Given the description of an element on the screen output the (x, y) to click on. 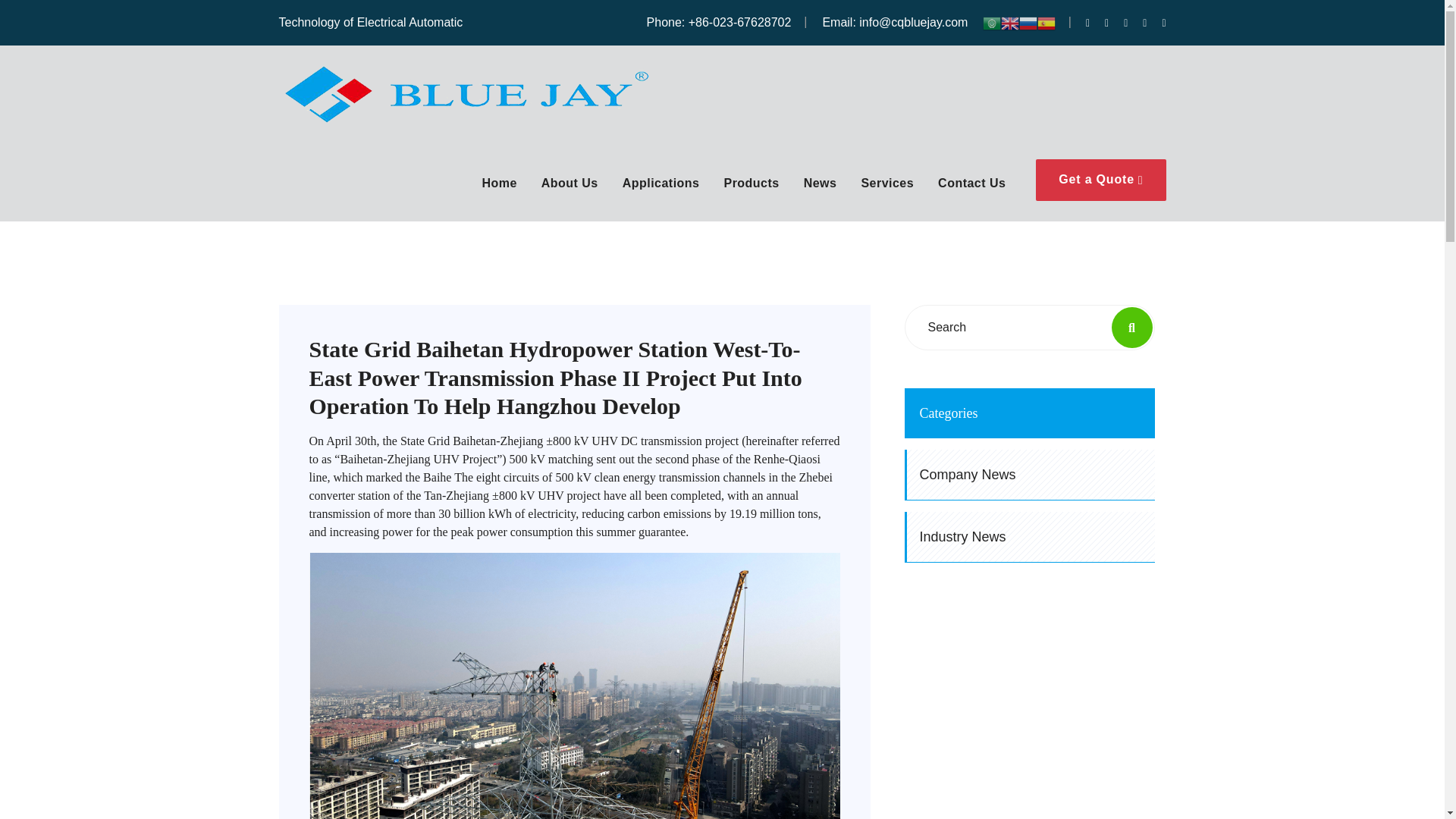
Home (498, 188)
Arabic (991, 21)
Russian (1027, 21)
English (1010, 21)
News (820, 188)
Products (750, 188)
Spanish (1045, 21)
About Us (569, 188)
Applications (661, 188)
